Given the description of an element on the screen output the (x, y) to click on. 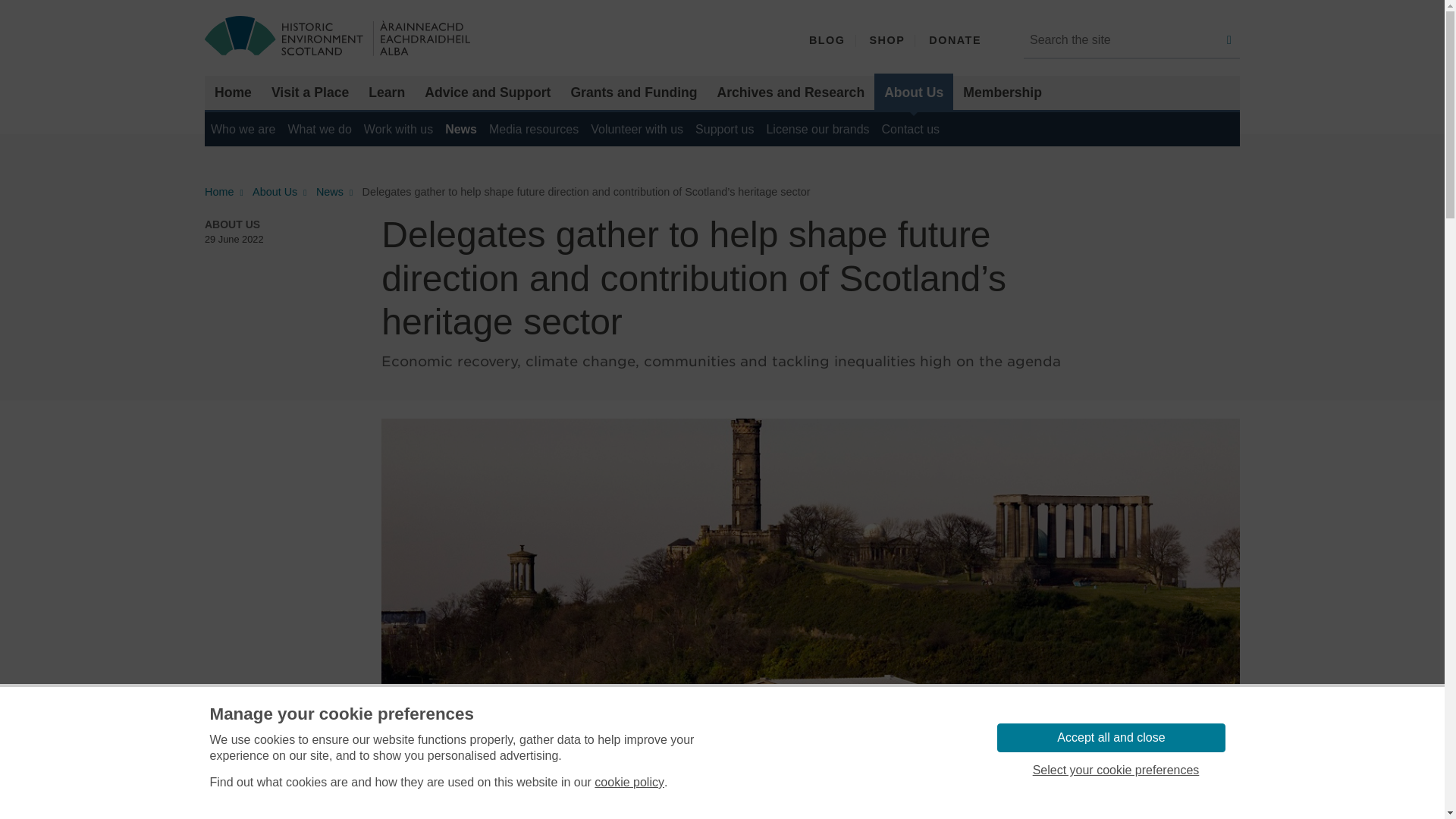
Accept all and close (1110, 737)
Home (233, 92)
Visit a Place (310, 92)
cookie policy (628, 782)
Select your cookie preferences (1114, 770)
Advice and Support (487, 92)
Learn (386, 92)
